Given the description of an element on the screen output the (x, y) to click on. 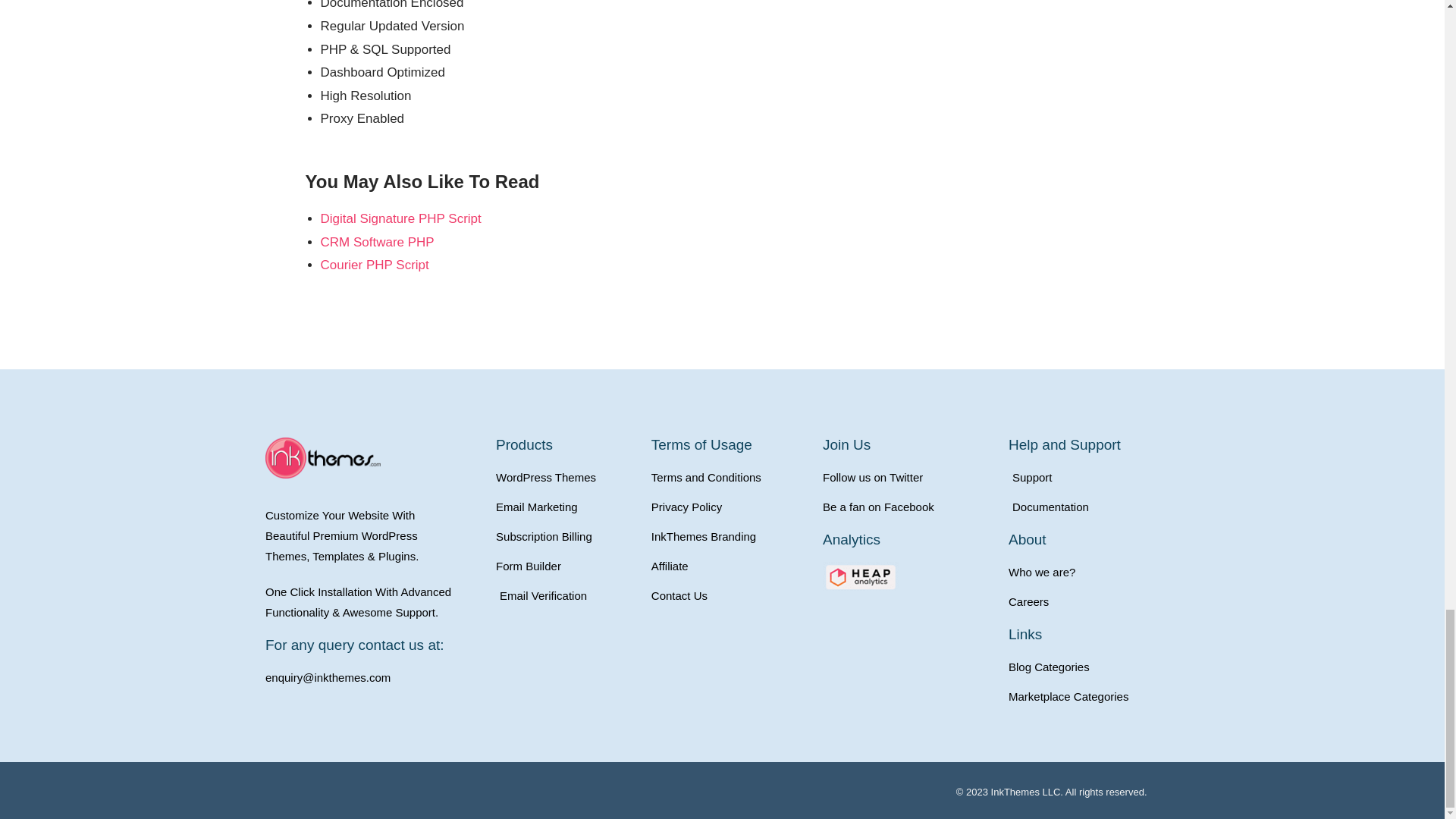
Marketplace Categories (1094, 696)
Who we are? (1094, 571)
Follow us on Twitter (907, 476)
InkThemes Branding (729, 536)
Subscription Billing (566, 536)
Contact Us (729, 595)
Email Marketing (566, 506)
Affiliate (729, 566)
Form Builder (566, 566)
Email Verification (566, 595)
Be a fan on Facebook (907, 506)
WordPress Themes (566, 476)
Careers (1094, 601)
Documentation (1094, 506)
CRM Software PHP (376, 242)
